Given the description of an element on the screen output the (x, y) to click on. 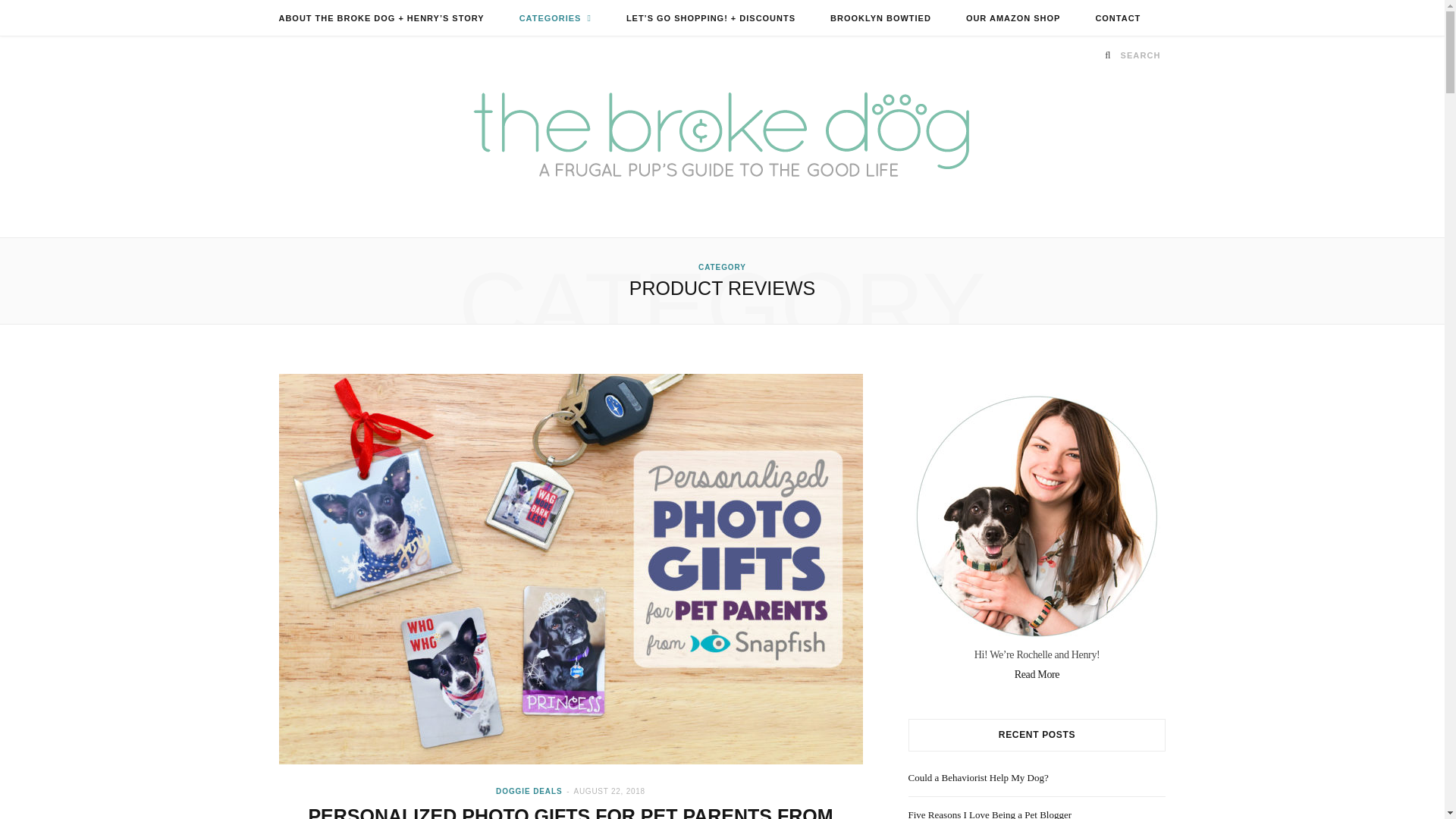
CATEGORIES (555, 18)
DOGGIE DEALS (529, 791)
PERSONALIZED PHOTO GIFTS FOR PET PARENTS FROM SNAPFISH (569, 812)
AUGUST 22, 2018 (609, 791)
The Broke Dog (722, 136)
CONTACT (1117, 18)
BROOKLYN BOWTIED (880, 18)
OUR AMAZON SHOP (1012, 18)
